Given the description of an element on the screen output the (x, y) to click on. 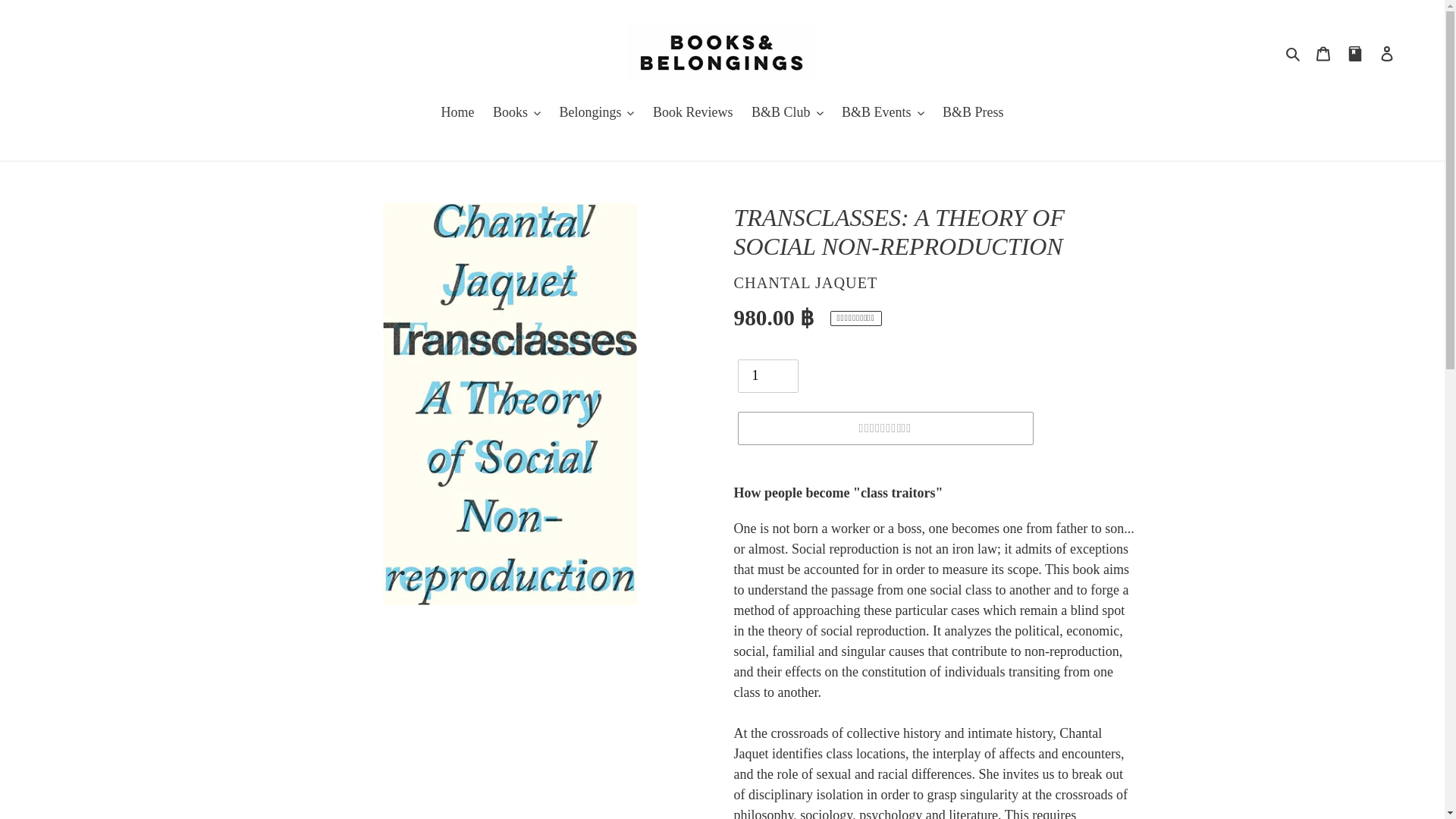
1 (766, 376)
Chantal Jaquet (805, 282)
